Given the description of an element on the screen output the (x, y) to click on. 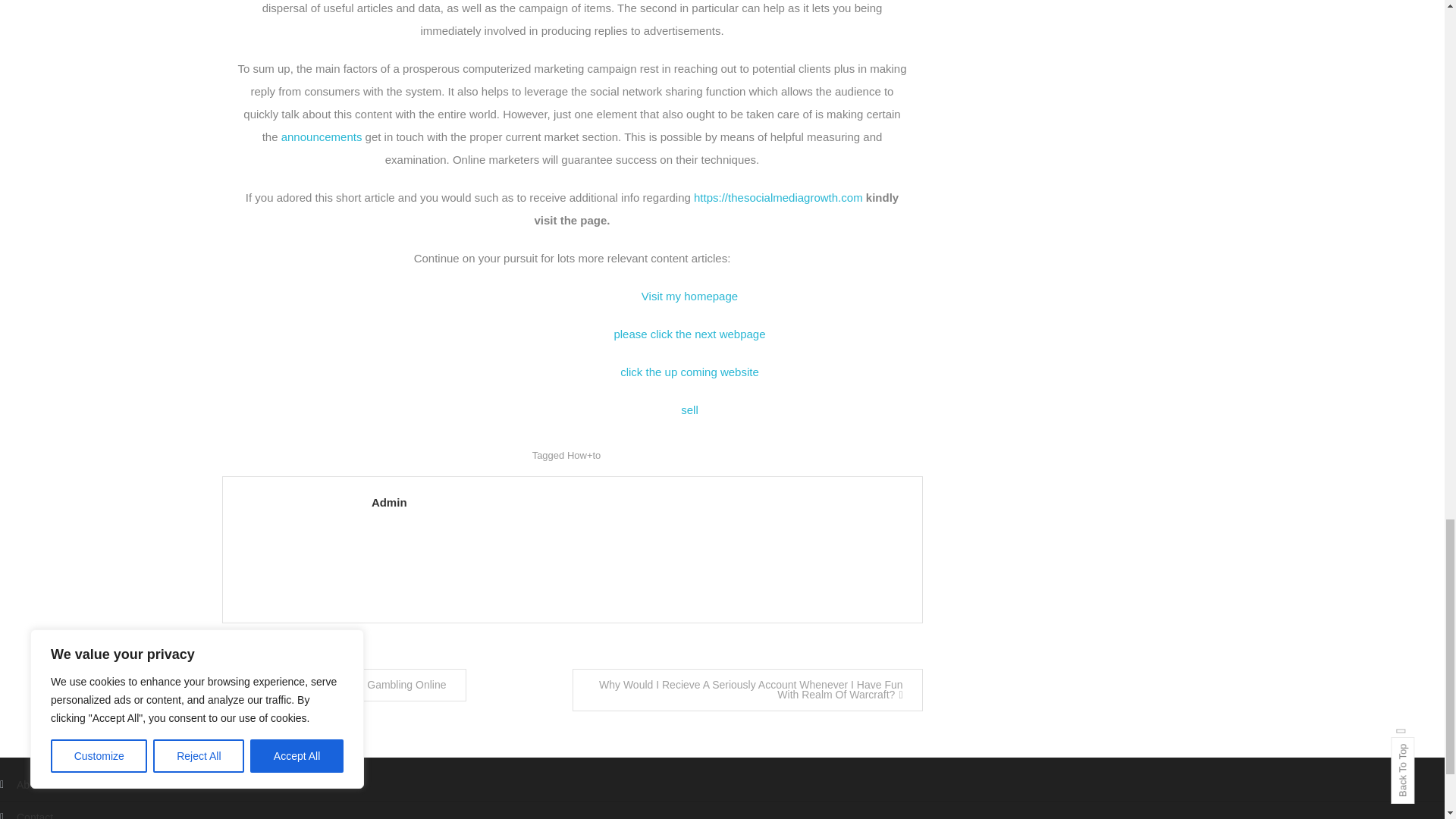
Visit my homepage (690, 295)
The Primary Content On Gambling Online (343, 685)
click the up coming website (689, 371)
sell (689, 409)
Admin (639, 502)
please click the next webpage (688, 333)
announcements (321, 136)
